Given the description of an element on the screen output the (x, y) to click on. 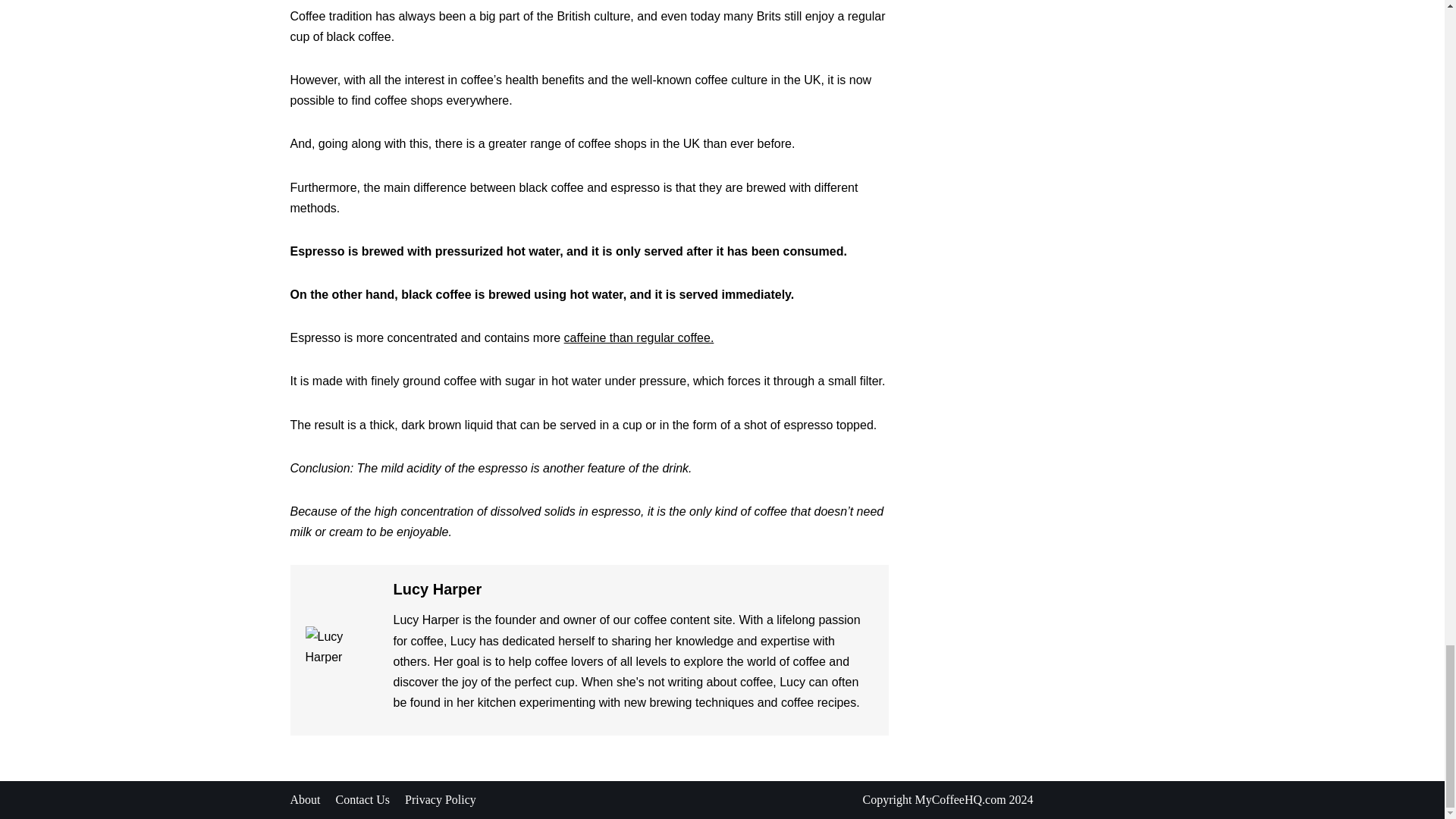
About (304, 799)
caffeine than regular coffee. (639, 337)
Contact Us (362, 799)
